Given the description of an element on the screen output the (x, y) to click on. 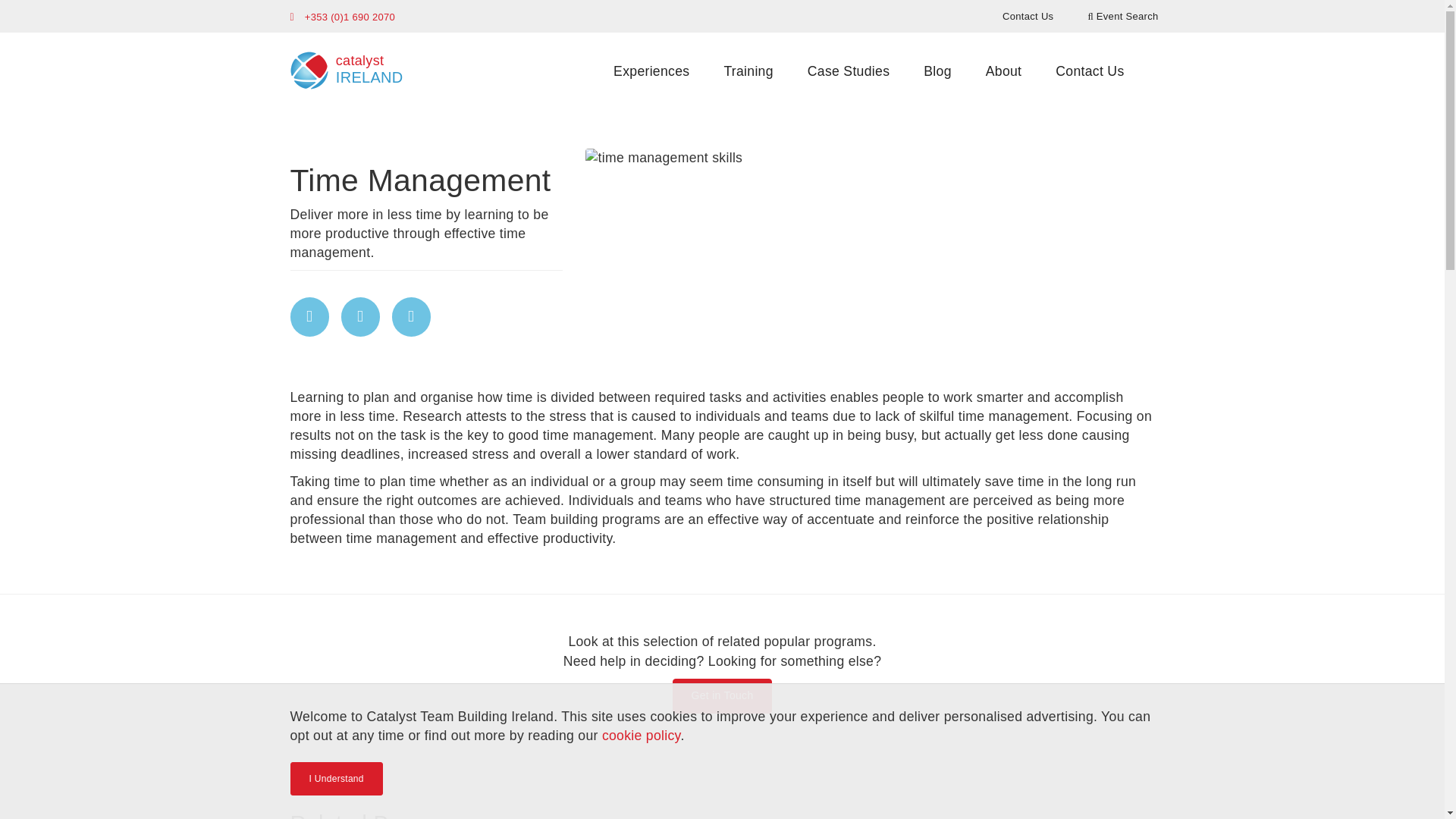
Contact Us (1027, 15)
Experiences (343, 64)
Training (651, 71)
Contact Us (747, 71)
Case Studies (1089, 71)
Get in Touch (848, 71)
Blog (722, 695)
About (937, 71)
Event Search (1003, 71)
